Given the description of an element on the screen output the (x, y) to click on. 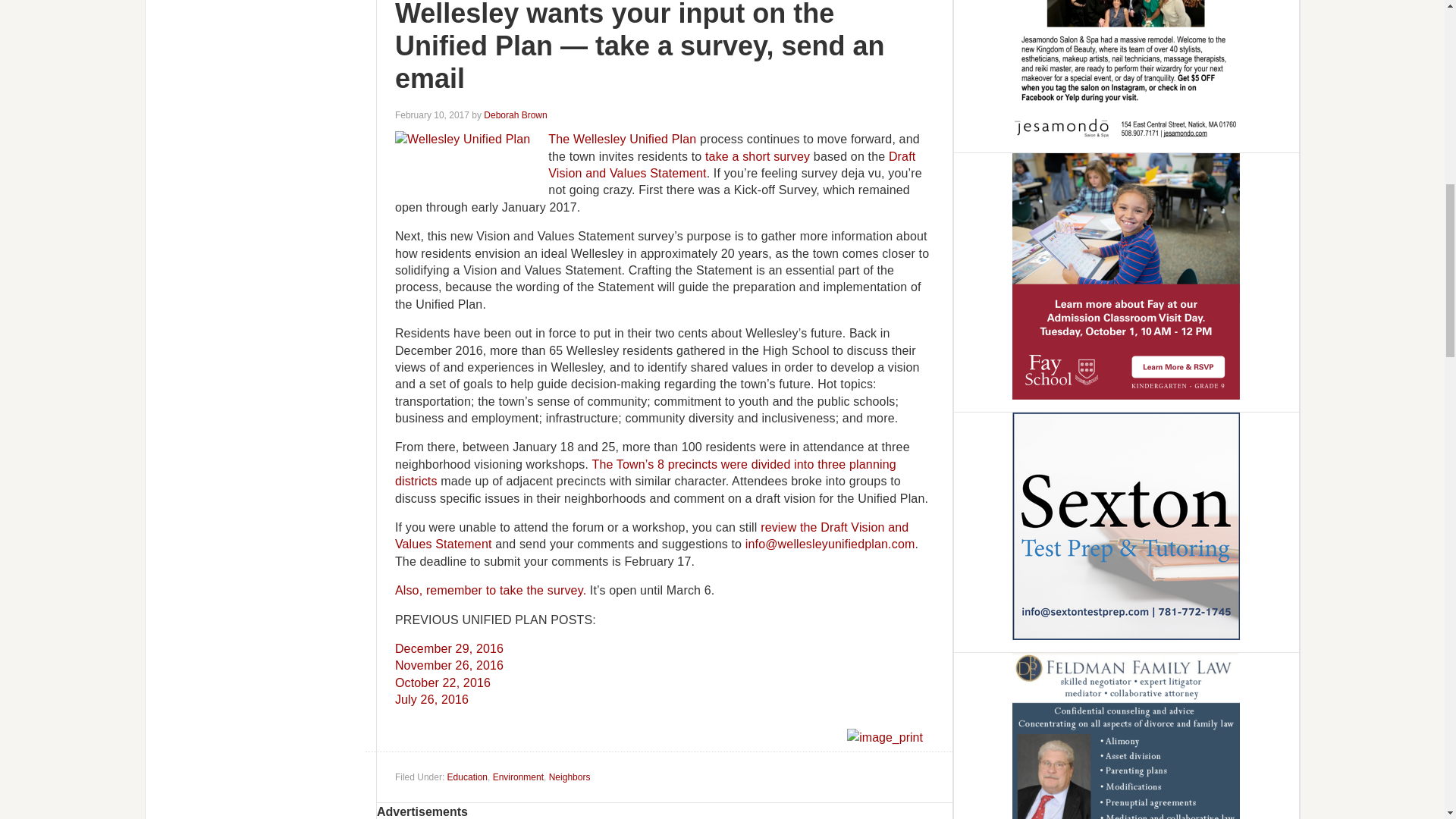
review the Draft Vision and Values Statement (651, 535)
Also, remember to take the survey. (490, 590)
Deborah Brown (515, 114)
Print Content (884, 737)
take a short survey (756, 155)
Draft Vision and Values Statement (731, 164)
The Wellesley Unified Plan (621, 138)
